Given the description of an element on the screen output the (x, y) to click on. 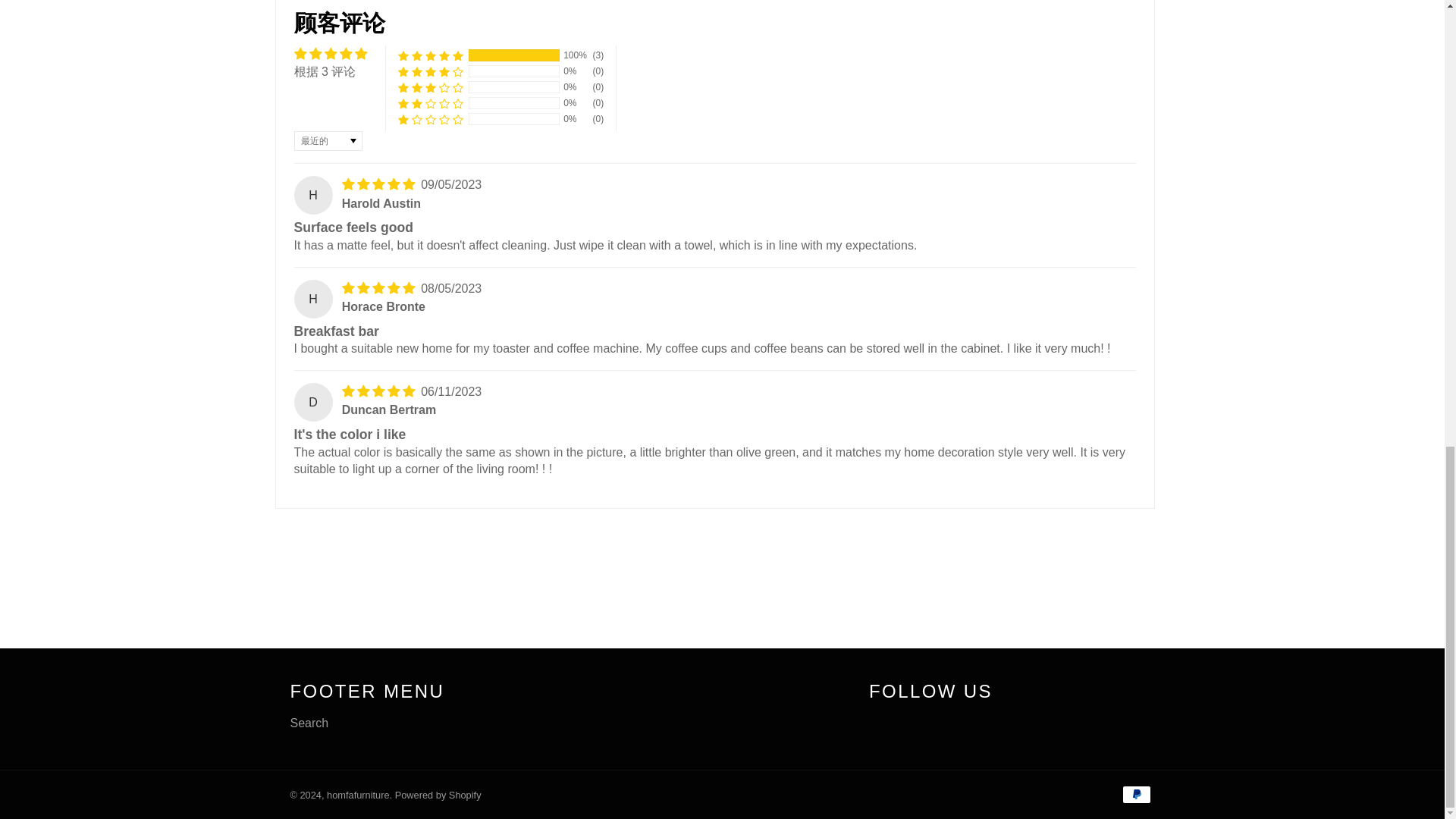
Search (309, 722)
Powered by Shopify (437, 794)
homfafurniture (358, 794)
